Given the description of an element on the screen output the (x, y) to click on. 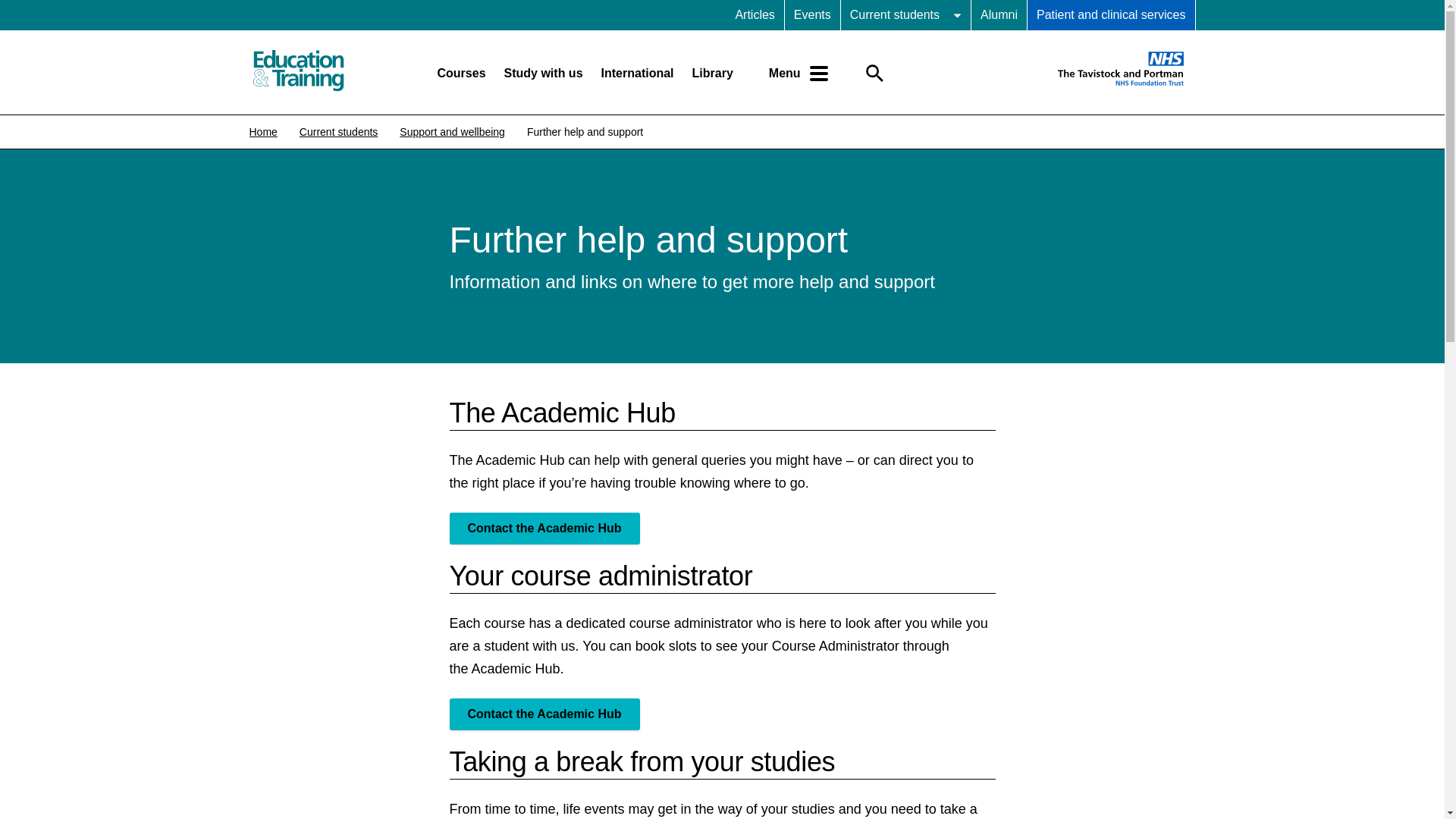
Alumni (998, 15)
Study with us (543, 72)
Current students (906, 15)
Library (712, 72)
search (874, 72)
Courses (461, 72)
International (637, 72)
Menu (798, 72)
Search (899, 133)
Patient and clinical services (1111, 15)
